Given the description of an element on the screen output the (x, y) to click on. 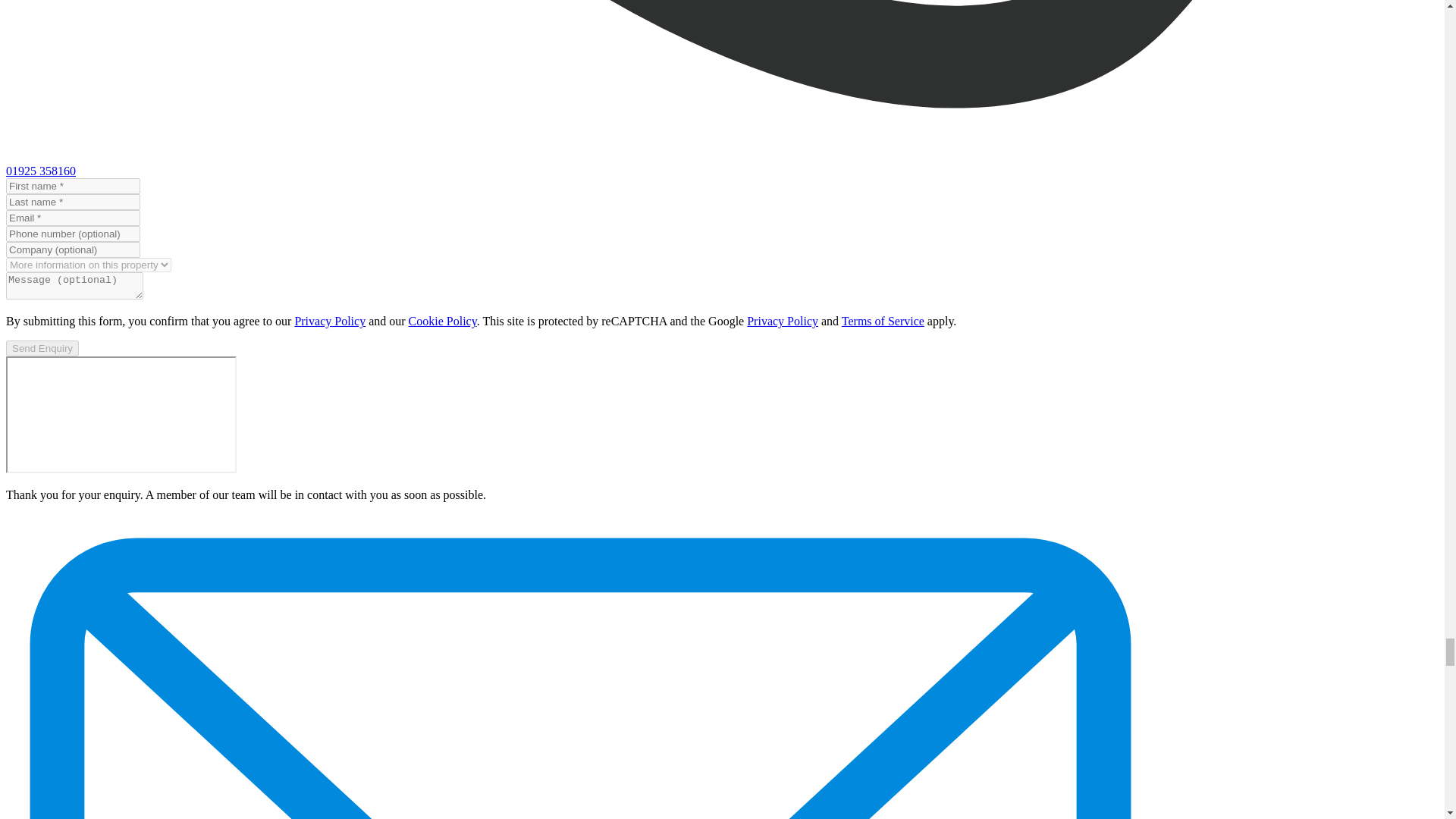
Privacy Policy (782, 320)
Terms of Service (882, 320)
Send Enquiry (41, 348)
Send Enquiry (41, 348)
Cookie Policy (443, 320)
Privacy Policy (329, 320)
